Given the description of an element on the screen output the (x, y) to click on. 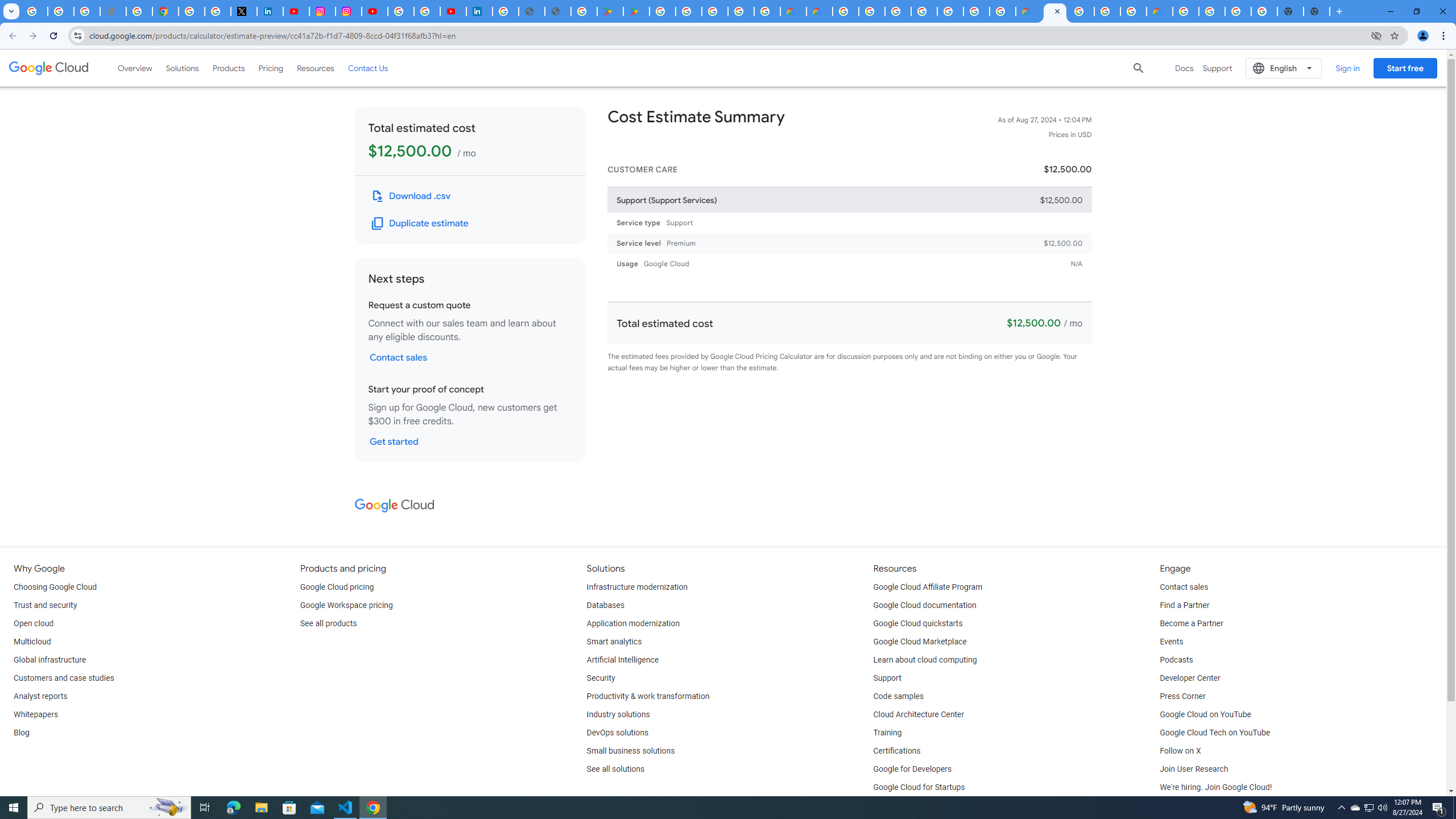
Google Workspace pricing (346, 605)
Press Corner (1181, 696)
Browse Chrome as a guest - Computer - Google Chrome Help (1107, 11)
We're hiring. Join Google Cloud! (1215, 787)
Get started (393, 441)
Google Cloud pricing (336, 587)
Google Cloud on YouTube (1204, 714)
Google Cloud Affiliate Program (927, 587)
support.google.com - Network error (112, 11)
Multicloud (31, 642)
Support (887, 678)
X (243, 11)
